Given the description of an element on the screen output the (x, y) to click on. 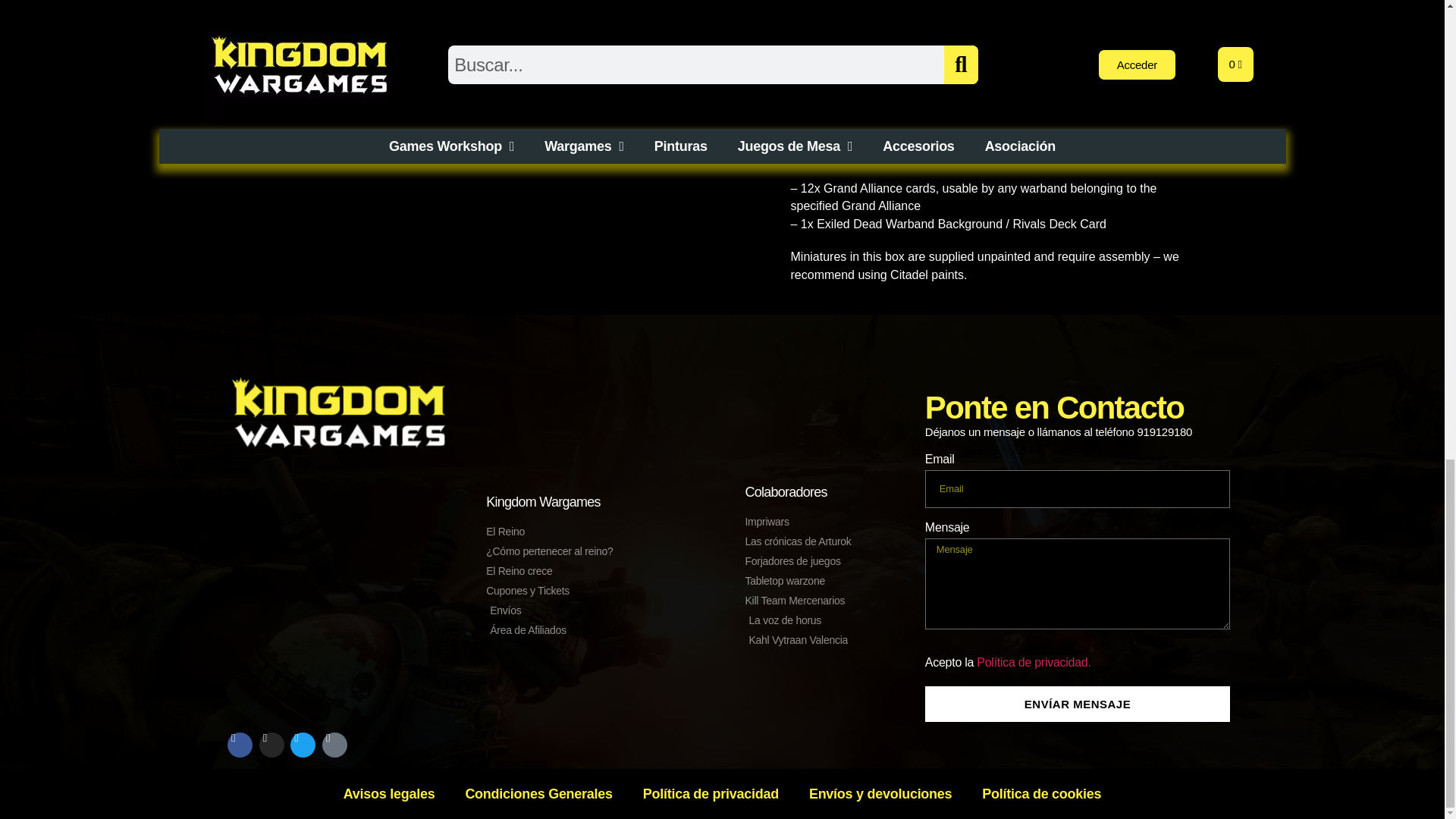
calle arroto de la elipa 12 madrid (339, 584)
